Given the description of an element on the screen output the (x, y) to click on. 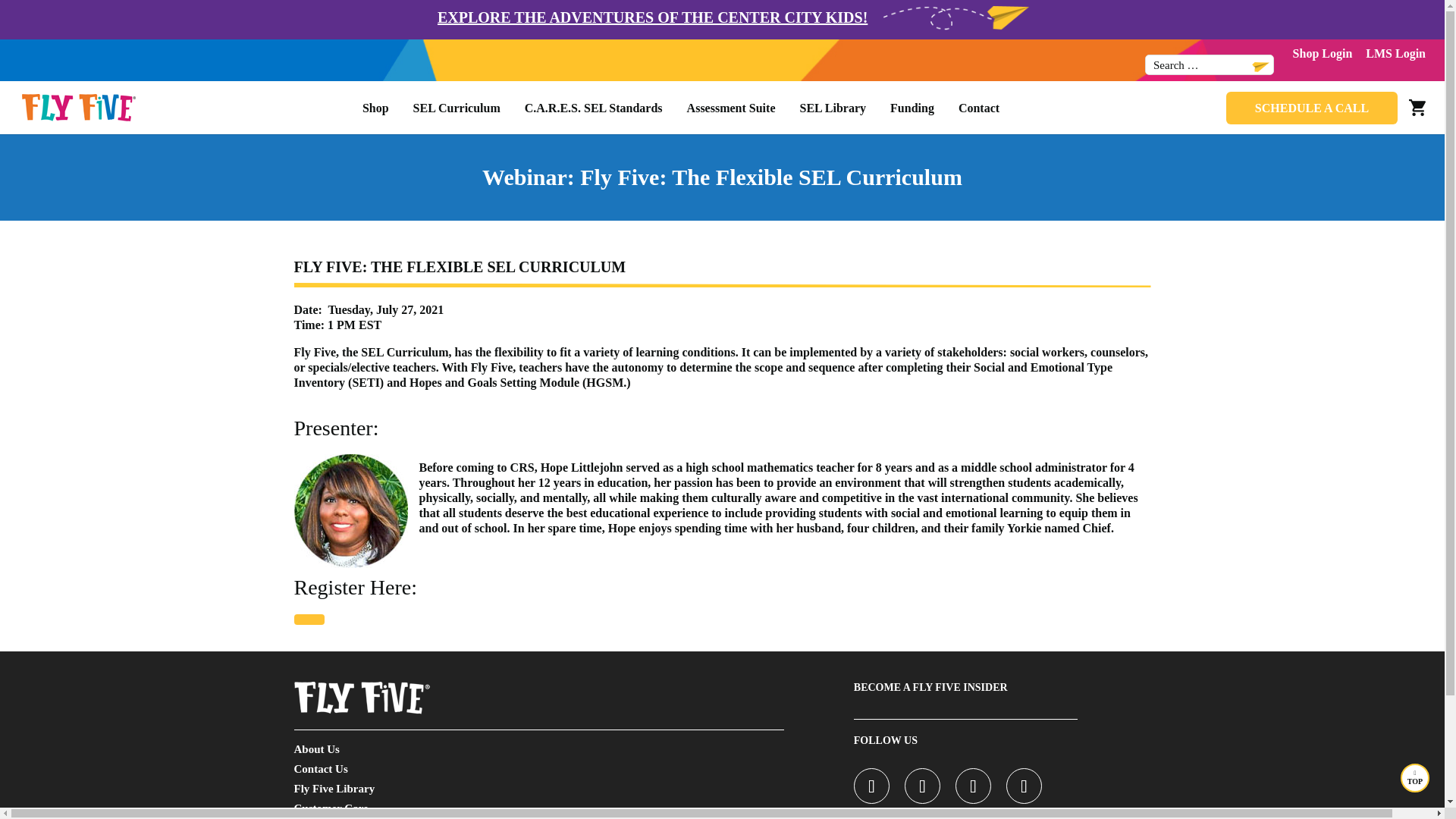
Click to return on the top page (1414, 777)
EXPLORE THE ADVENTURES OF THE CENTER CITY KIDS! (652, 17)
LMS Login (1395, 53)
SEL Curriculum (457, 111)
Search for: (1209, 64)
Shop Login (1322, 53)
